Given the description of an element on the screen output the (x, y) to click on. 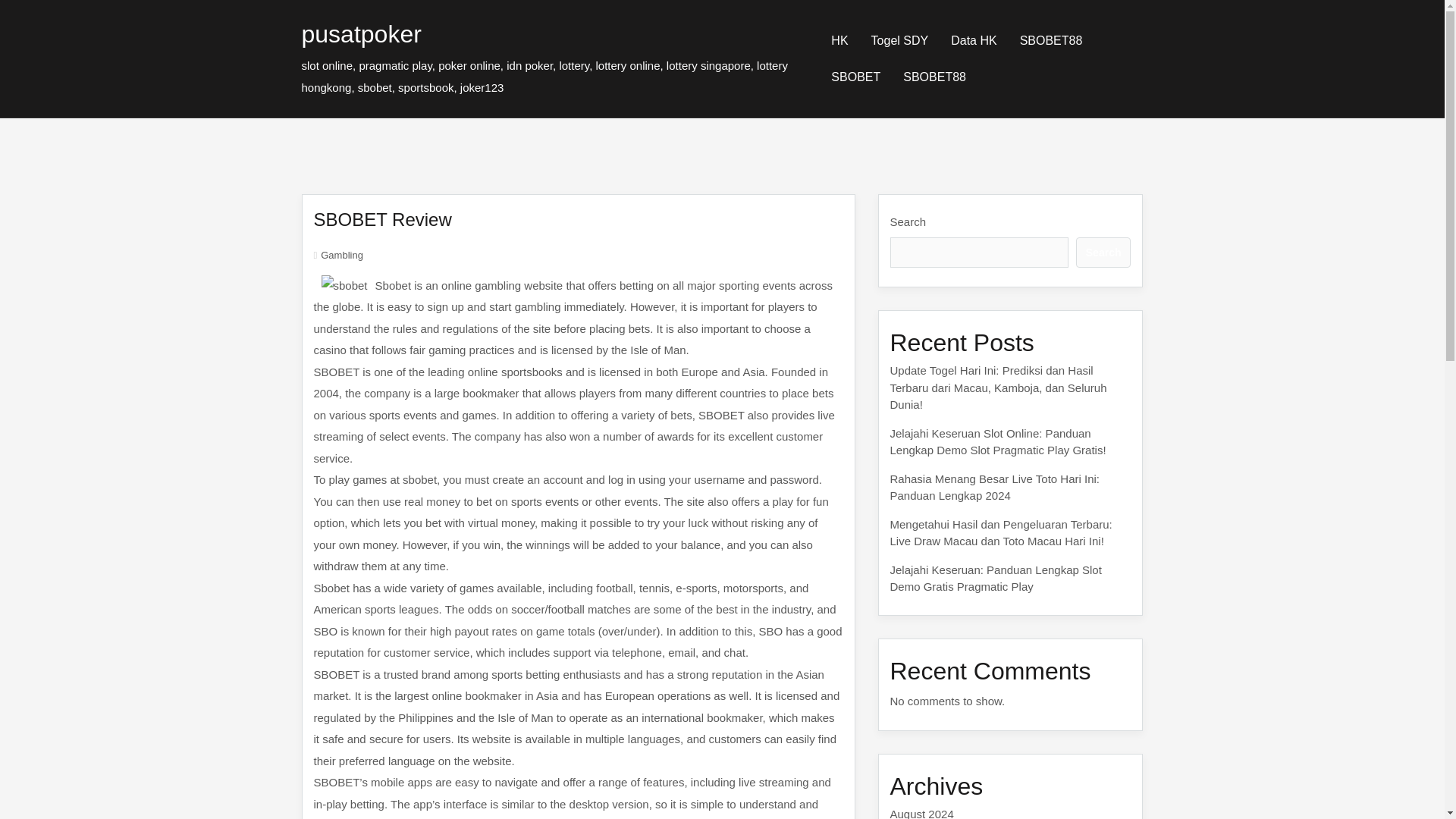
SBOBET88 (1051, 40)
SBOBET88 (933, 76)
Data HK (973, 40)
Data HK (973, 40)
Gambling (341, 255)
Search (1103, 251)
SBOBET88 (1051, 40)
